Given the description of an element on the screen output the (x, y) to click on. 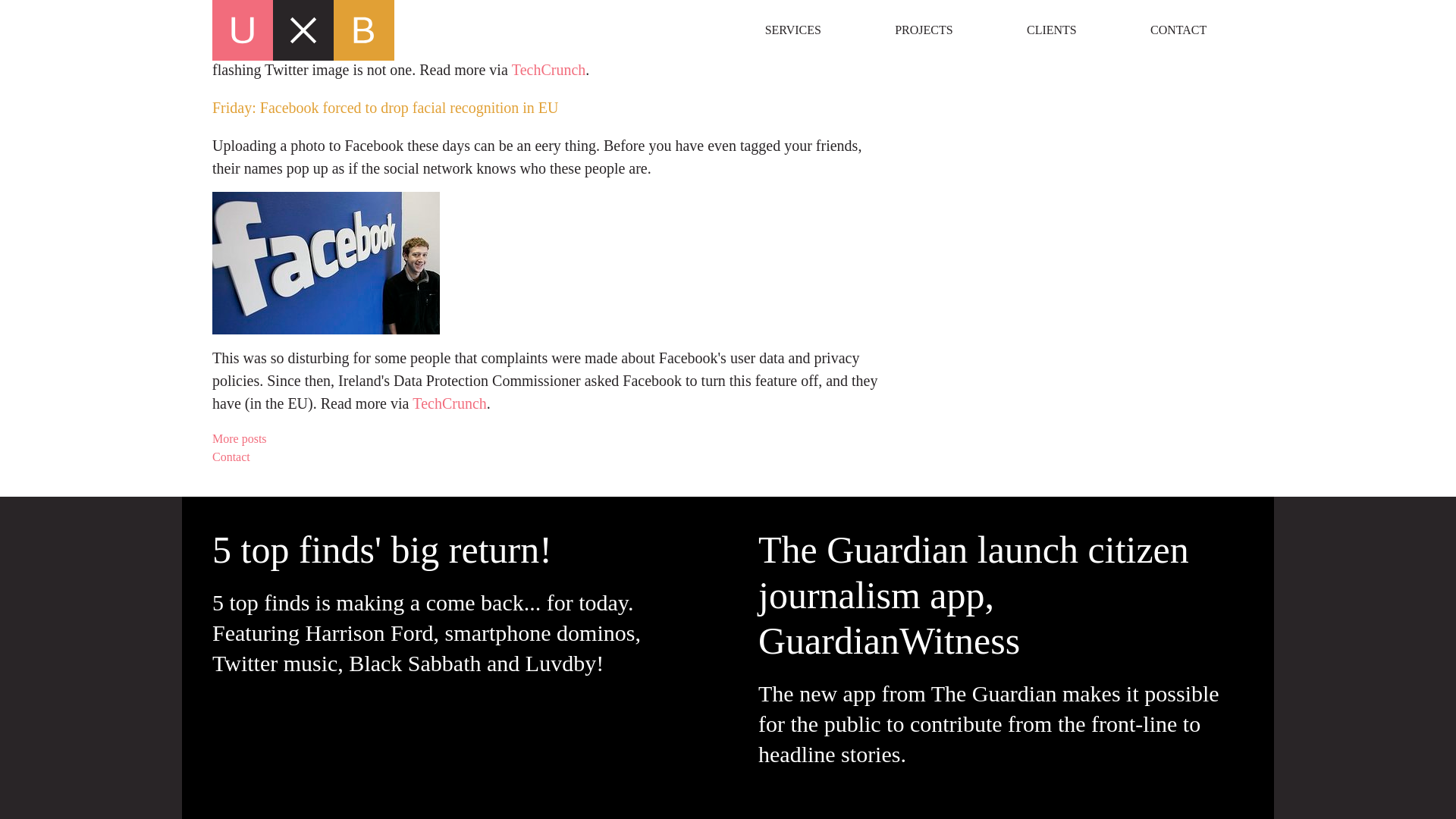
Contact (545, 456)
TechCrunch (449, 403)
TechCrunch (548, 69)
More posts (545, 438)
Daily Dot (318, 11)
